Given the description of an element on the screen output the (x, y) to click on. 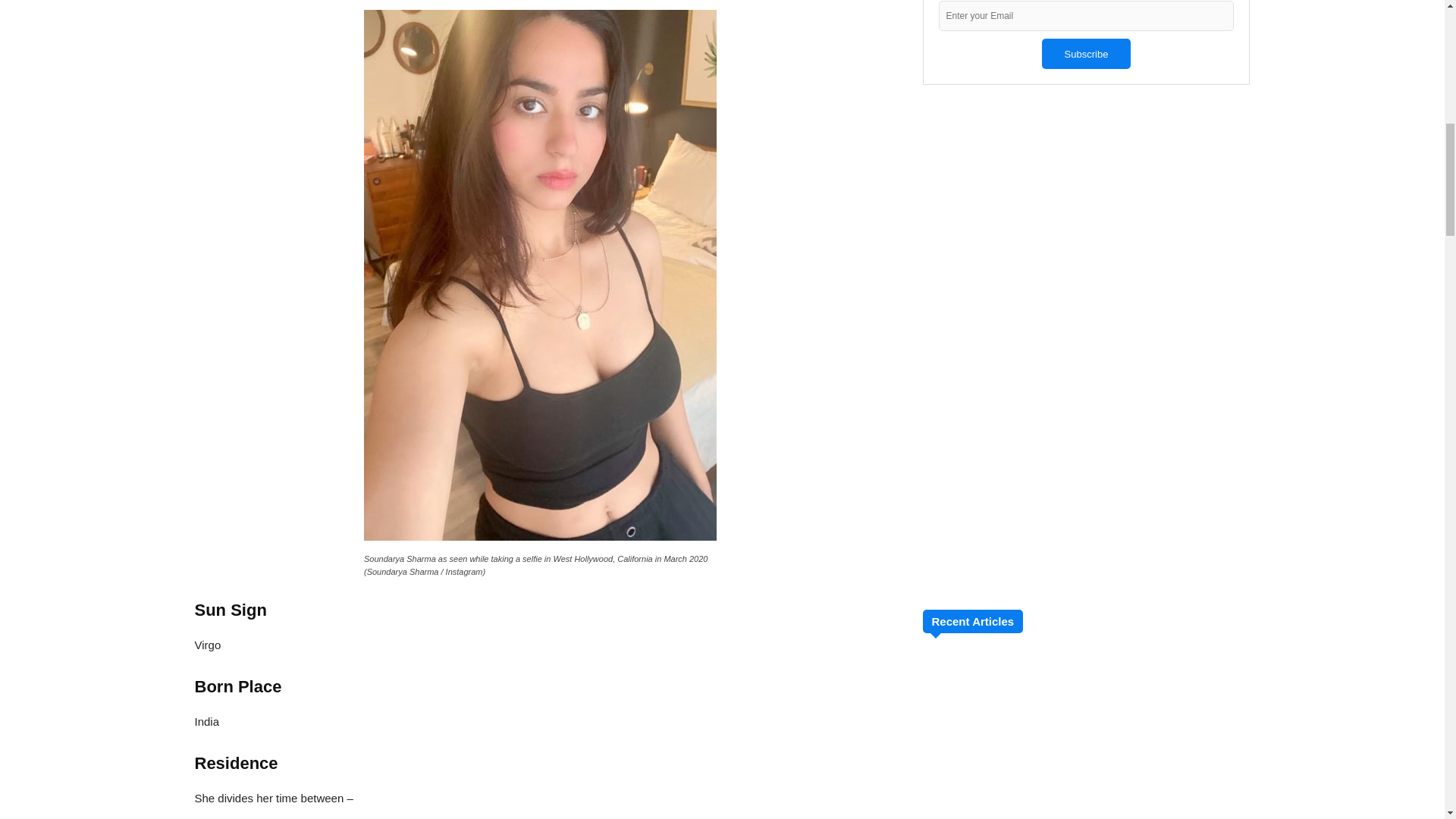
Subscribe (1086, 53)
